Given the description of an element on the screen output the (x, y) to click on. 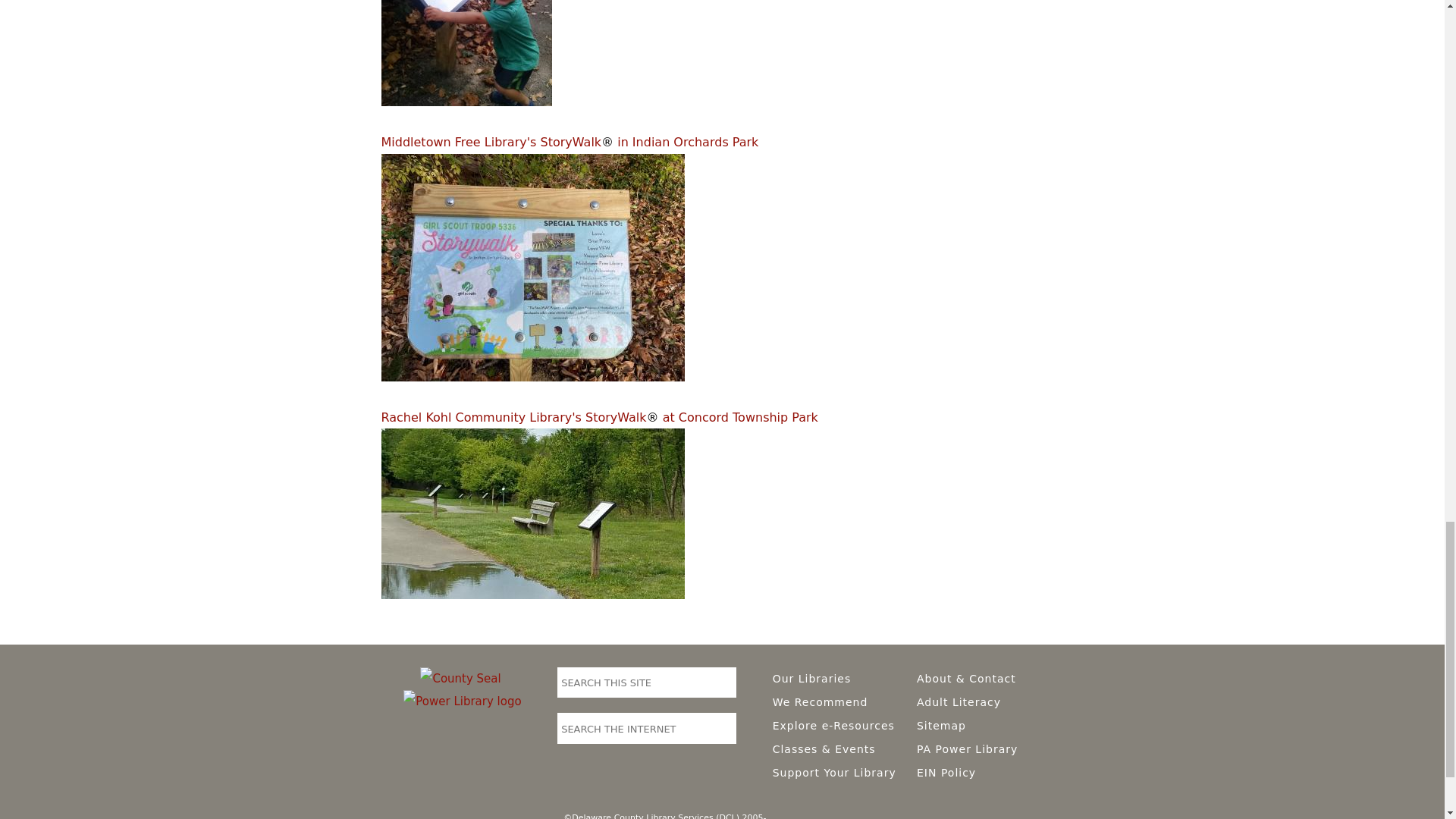
Search (722, 680)
Search! (722, 727)
Enter the terms you wish to search for. (633, 682)
